Given the description of an element on the screen output the (x, y) to click on. 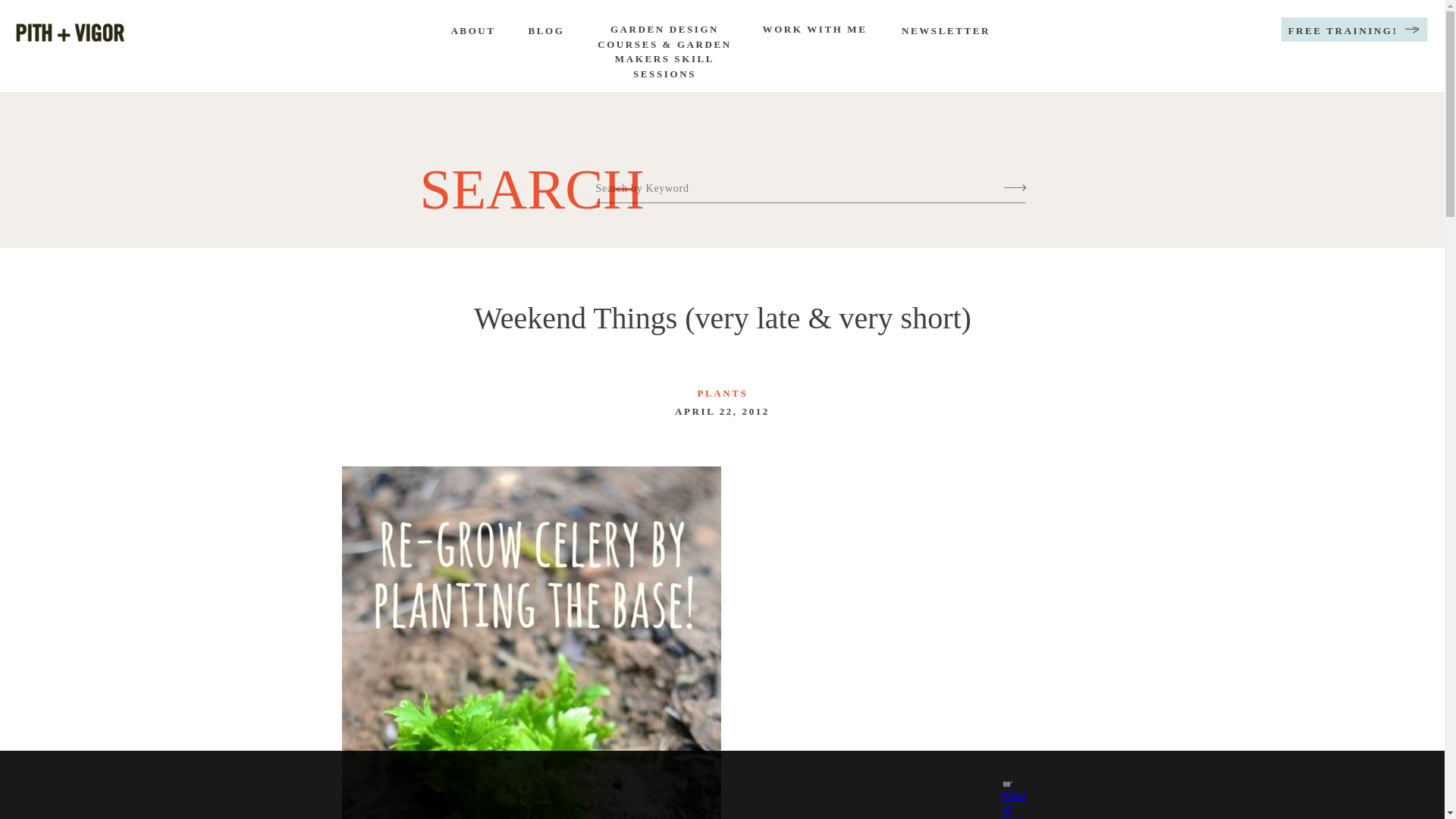
NEWSLETTER (945, 31)
WORK WITH ME (815, 33)
SEARCH (515, 180)
PLANTS (722, 392)
FREE TRAINING! (1343, 31)
ABOUT (471, 31)
3rd party ad content (708, 785)
BLOG (545, 31)
